Given the description of an element on the screen output the (x, y) to click on. 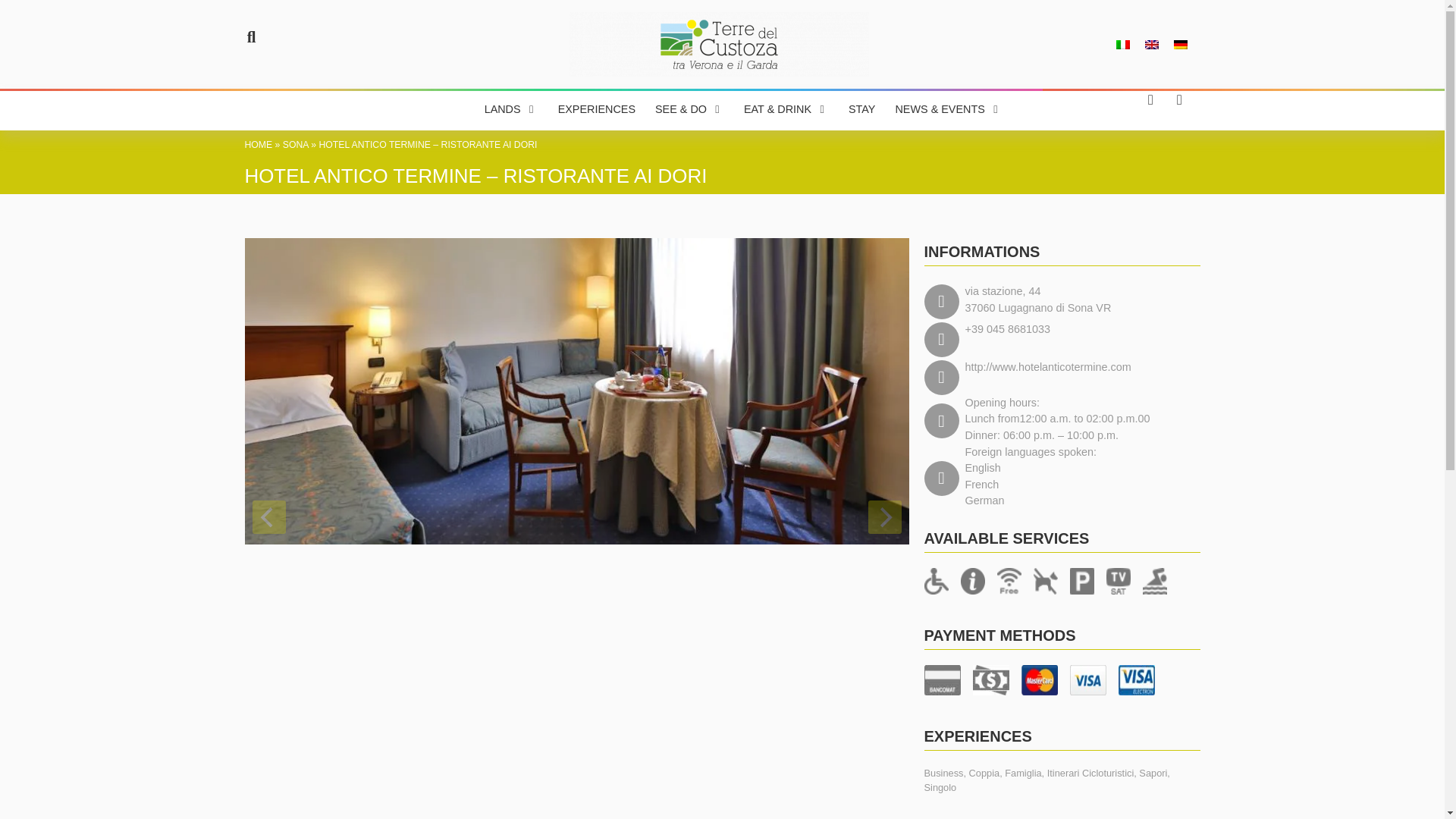
Access for disabled (935, 581)
Visa Electron (1136, 680)
terre-custoza-hd (719, 44)
parking (1080, 581)
Visa (1086, 680)
EXPERIENCES (595, 109)
Bancomat (941, 680)
satellite TV (1117, 581)
no pets allowed (1044, 581)
swimming pool (1153, 581)
Cash (990, 680)
Mastercard (1038, 680)
SONA (295, 144)
LANDS (502, 109)
HOME (258, 144)
